Given the description of an element on the screen output the (x, y) to click on. 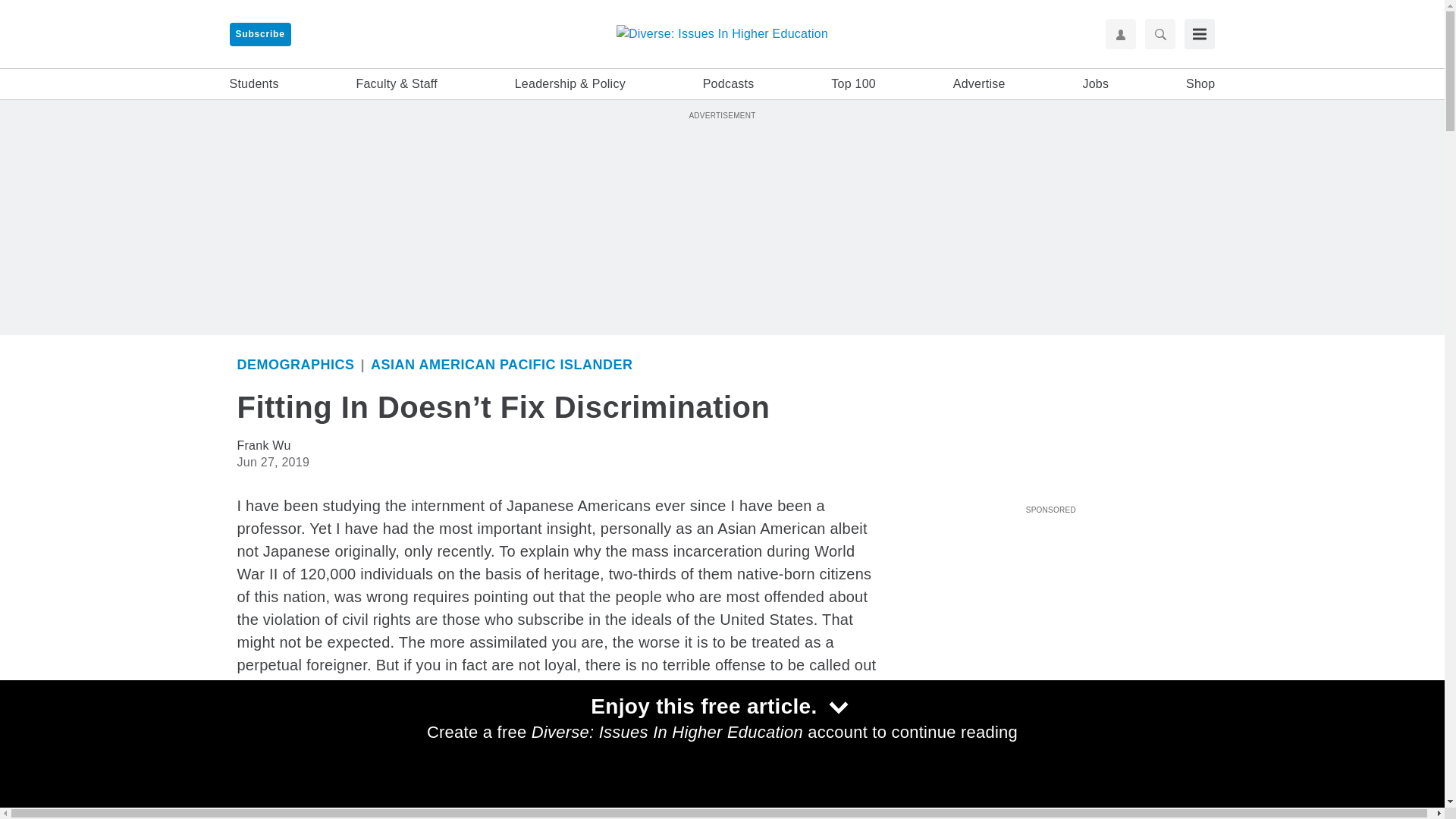
Advertise (979, 84)
Subscribe (258, 33)
Podcasts (728, 84)
Jobs (1094, 84)
Youtube Player (1050, 604)
Shop (1200, 84)
Top 100 (853, 84)
Asian American Pacific Islander (502, 364)
Demographics (294, 364)
Subscribe (258, 33)
